Given the description of an element on the screen output the (x, y) to click on. 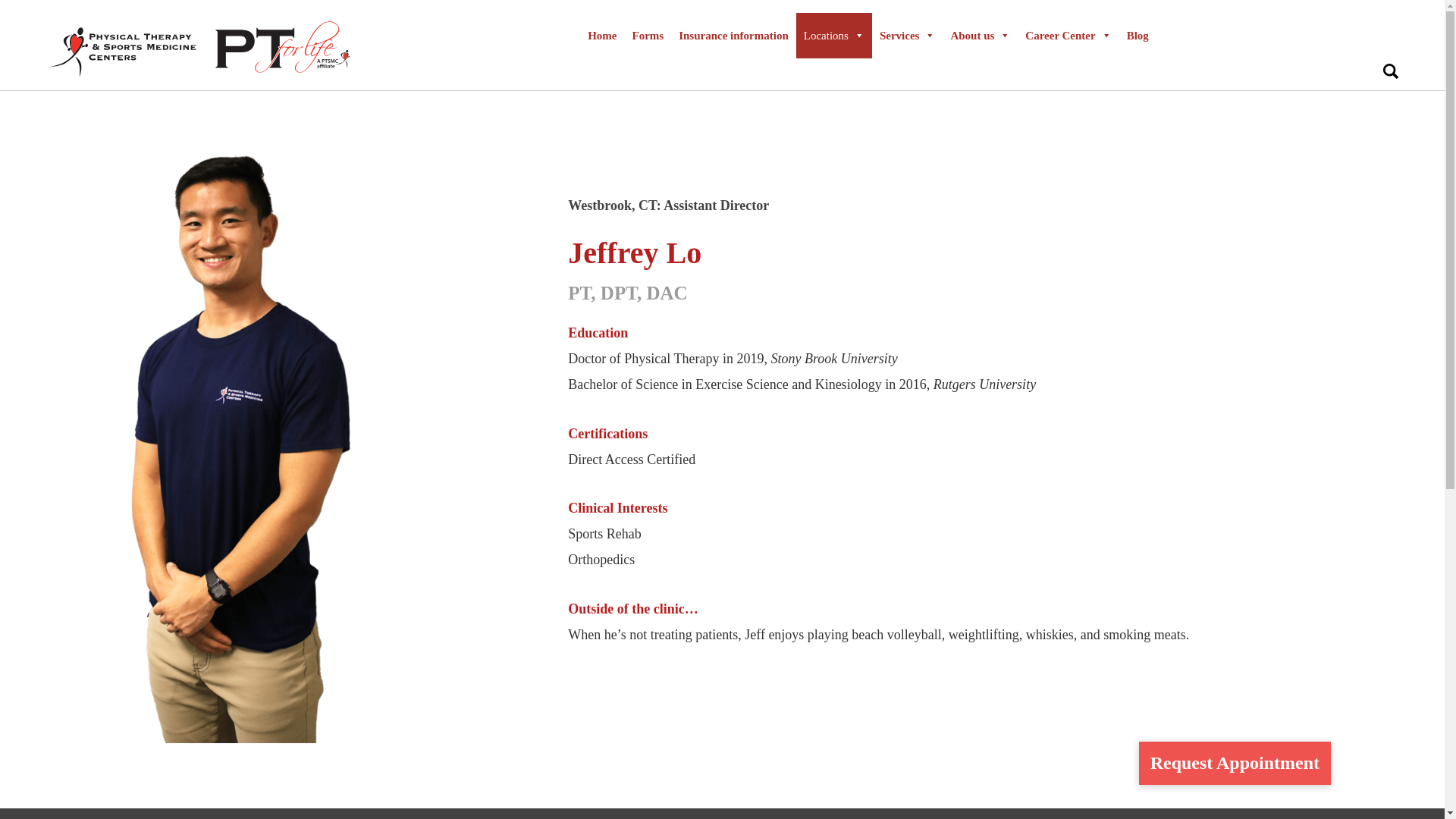
Forms (647, 35)
Insurance information (733, 35)
Home (601, 35)
Locations (834, 35)
